Given the description of an element on the screen output the (x, y) to click on. 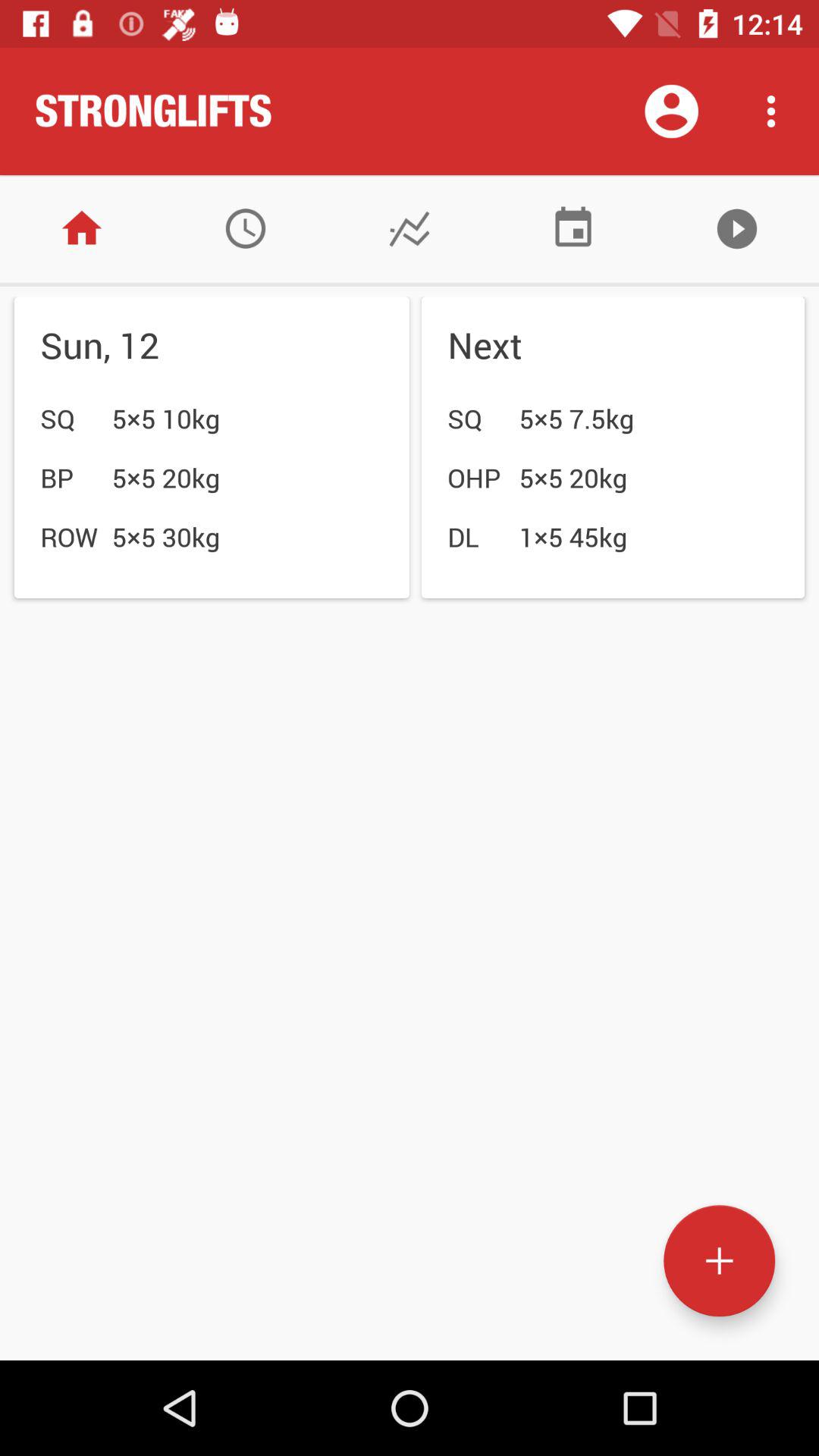
switch to home screen (81, 228)
